Given the description of an element on the screen output the (x, y) to click on. 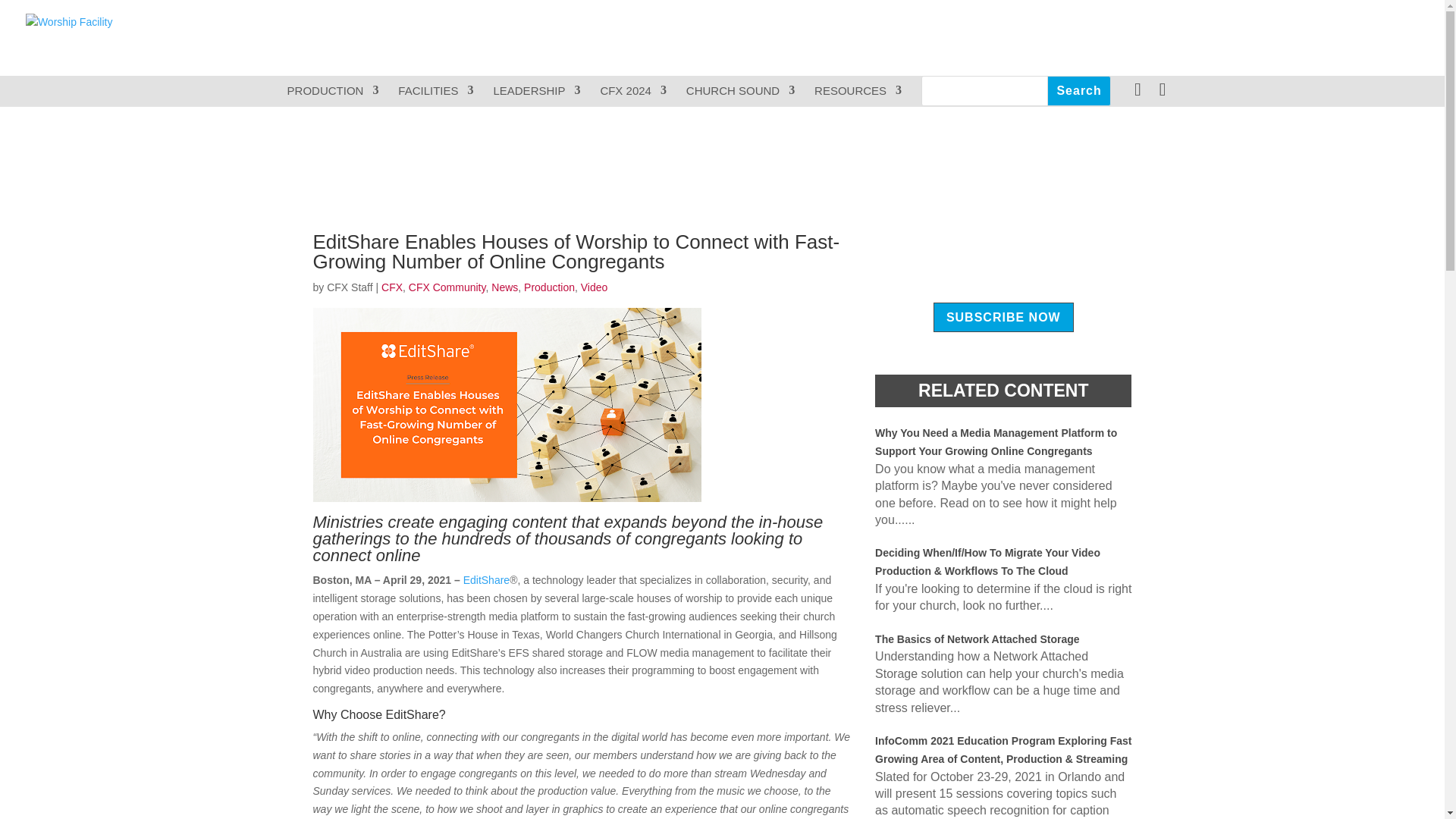
Posts by CFX Staff (349, 287)
CFX 2024 (632, 91)
CHURCH SOUND (739, 91)
RESOURCES (857, 91)
PRODUCTION (332, 91)
HOW PR PR Image (506, 404)
Search (1078, 91)
LEADERSHIP (536, 91)
The Basics of Network Attached Storage (976, 639)
FACILITIES (435, 91)
